Given the description of an element on the screen output the (x, y) to click on. 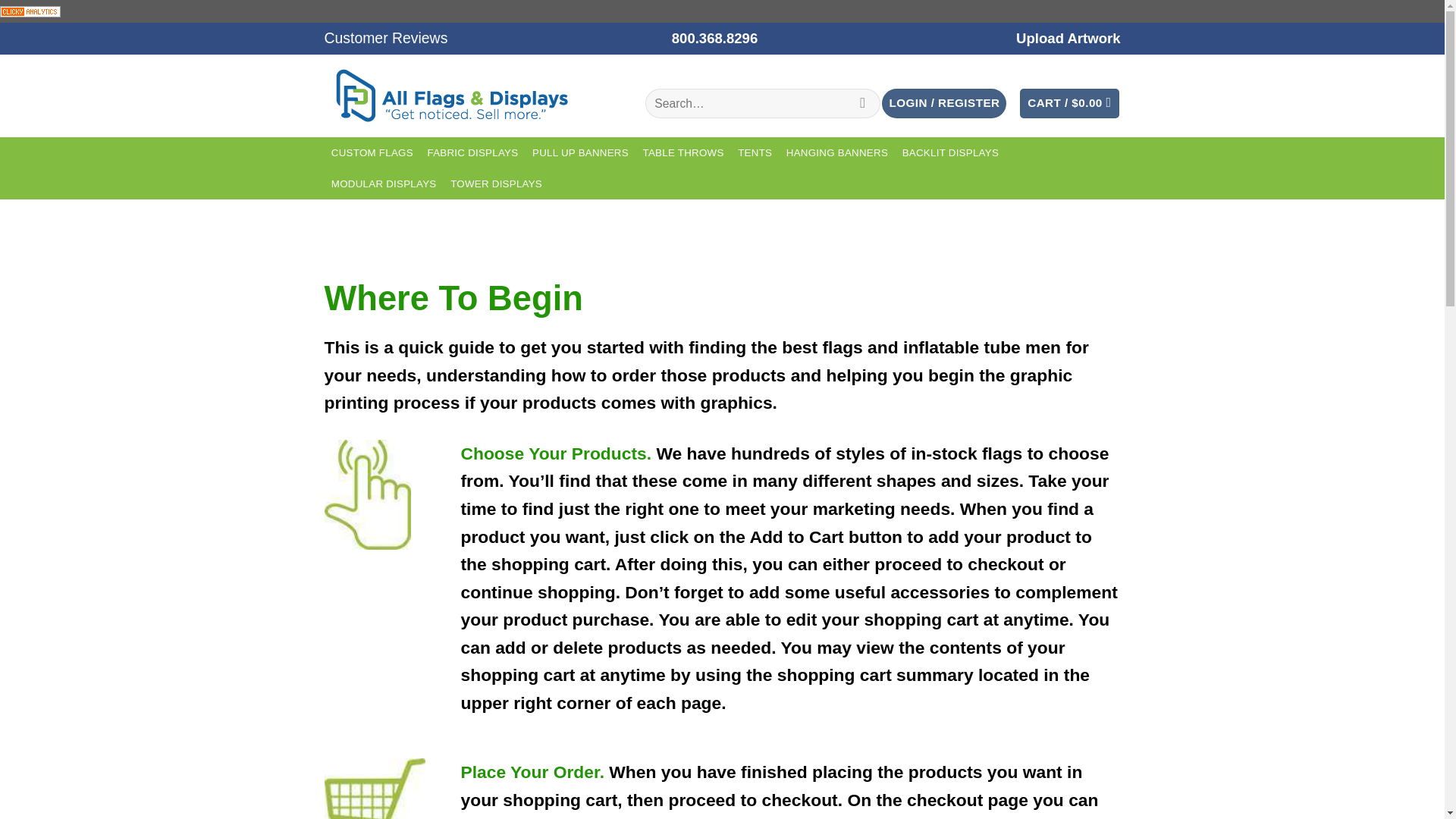
BACKLIT DISPLAYS (950, 152)
Upload Artwork (1067, 37)
HANGING BANNERS (836, 152)
MODULAR DISPLAYS (384, 183)
FABRIC DISPLAYS (472, 152)
Cart (1069, 102)
TOWER DISPLAYS (497, 183)
Customer Reviews (386, 38)
TABLE THROWS (682, 152)
TENTS (754, 152)
